Given the description of an element on the screen output the (x, y) to click on. 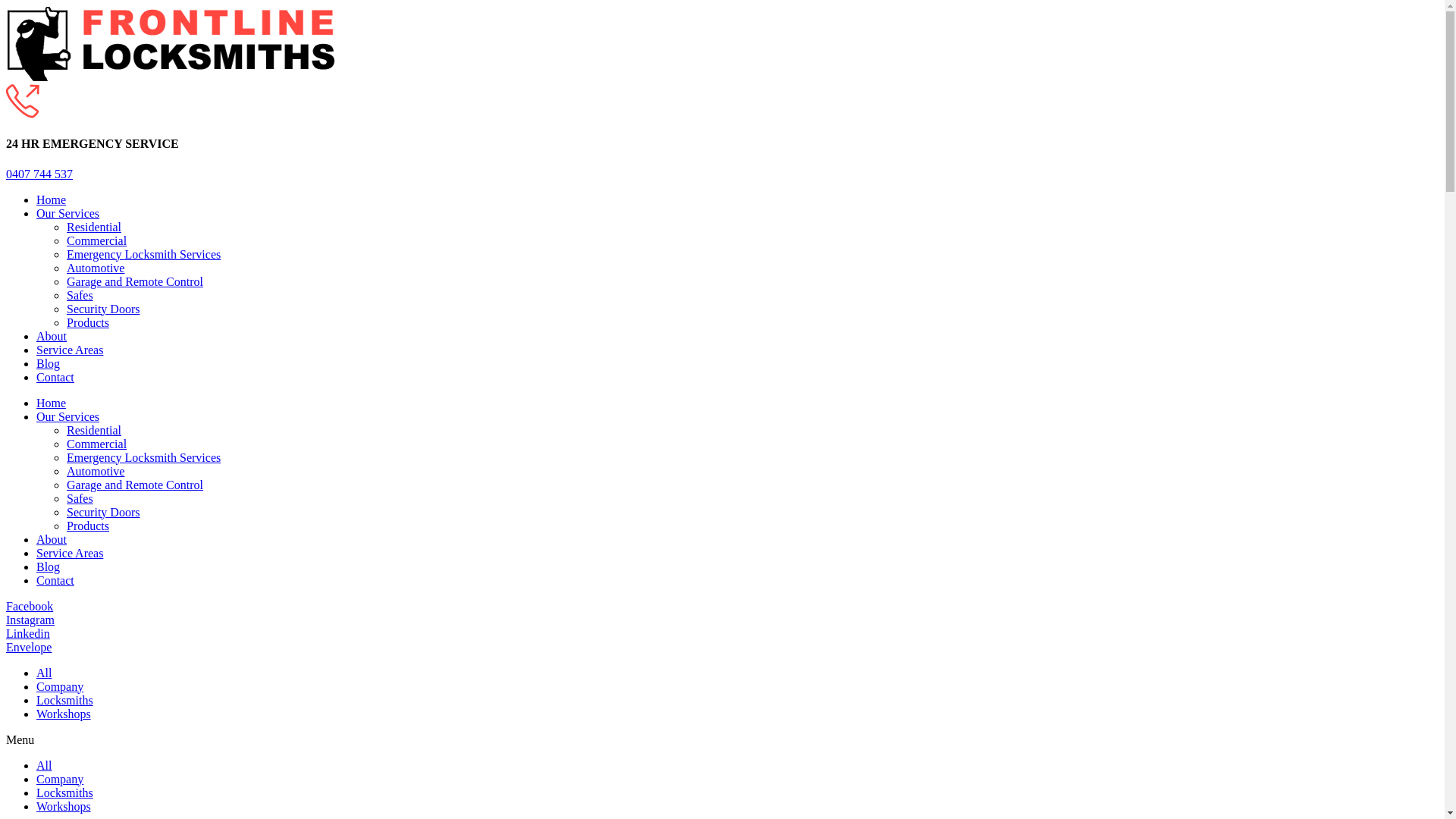
Garage and Remote Control Element type: text (134, 484)
About Element type: text (51, 335)
Automotive Element type: text (95, 267)
Contact Element type: text (55, 376)
Emergency Locksmith Services Element type: text (143, 457)
Locksmiths Element type: text (64, 792)
Workshops Element type: text (63, 713)
Workshops Element type: text (63, 806)
Safes Element type: text (79, 498)
Residential Element type: text (93, 429)
Products Element type: text (87, 525)
Products Element type: text (87, 322)
All Element type: text (43, 672)
Linkedin Element type: text (28, 633)
Instagram Element type: text (30, 619)
Company Element type: text (59, 686)
Safes Element type: text (79, 294)
0407 744 537 Element type: text (39, 173)
Company Element type: text (59, 778)
Commercial Element type: text (96, 443)
Garage and Remote Control Element type: text (134, 281)
Blog Element type: text (47, 363)
Our Services Element type: text (67, 416)
About Element type: text (51, 539)
Service Areas Element type: text (69, 349)
Residential Element type: text (93, 226)
Locksmiths Element type: text (64, 699)
Security Doors Element type: text (102, 511)
Envelope Element type: text (28, 646)
Service Areas Element type: text (69, 552)
Security Doors Element type: text (102, 308)
Home Element type: text (50, 402)
Automotive Element type: text (95, 470)
All Element type: text (43, 765)
Commercial Element type: text (96, 240)
Our Services Element type: text (67, 213)
Emergency Locksmith Services Element type: text (143, 253)
Home Element type: text (50, 199)
Contact Element type: text (55, 580)
Facebook Element type: text (29, 605)
Blog Element type: text (47, 566)
